Given the description of an element on the screen output the (x, y) to click on. 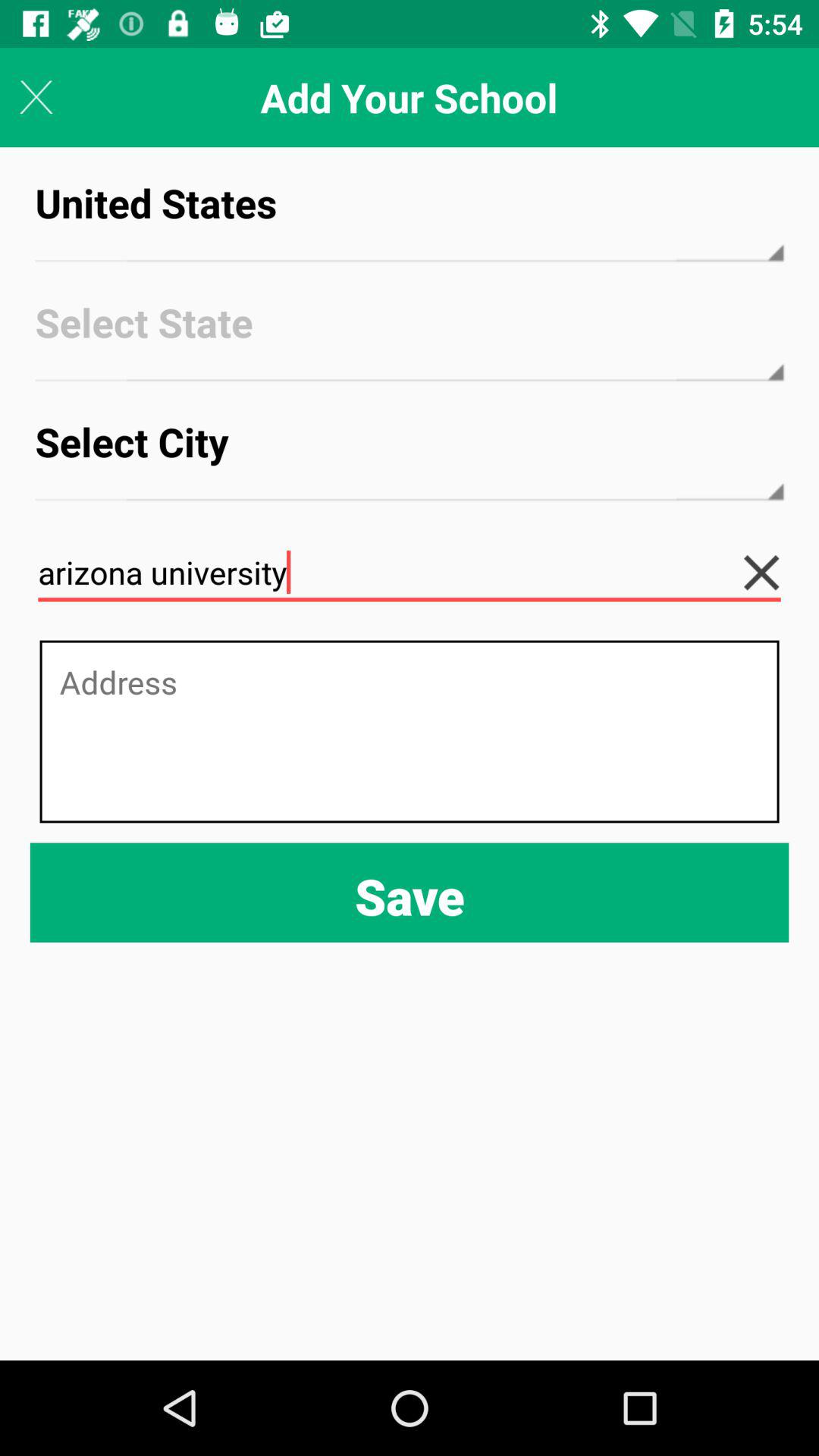
select the item below select state (409, 455)
